Given the description of an element on the screen output the (x, y) to click on. 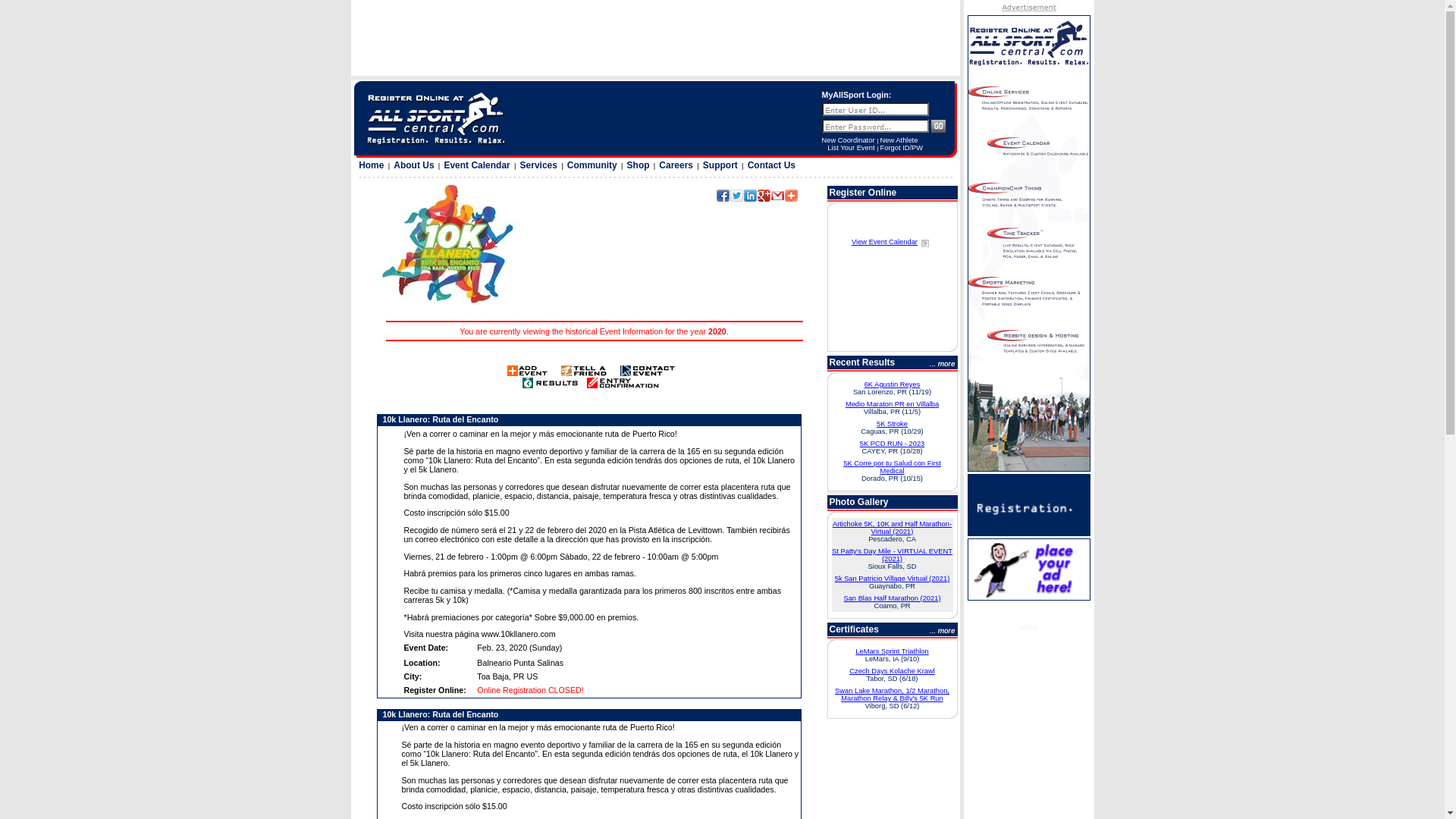
Careers Element type: text (675, 165)
New Athlete Element type: text (899, 140)
Services Element type: text (538, 165)
Support Element type: text (719, 165)
 Services  |  Element type: text (540, 165)
Forgot ID/PW Element type: text (901, 147)
About Us Element type: text (413, 165)
San Blas Half Marathon (2021) Element type: text (891, 598)
5K Corre por tu Salud con First Medical Element type: text (892, 466)
AllSportCentral.com - Registration. Results. Relax. Element type: hover (434, 118)
6K Agustin Reyes Element type: text (892, 384)
Event Calendar Element type: text (476, 165)
New Coordinator Element type: text (848, 140)
5K Stroke Element type: text (891, 423)
5k San Patricio Village Virtual (2021) Element type: text (892, 578)
 Event Calendar  |  Element type: text (479, 165)
Home Element type: text (370, 165)
View Event Calendar Element type: text (891, 250)
Medio Maraton PR en Villalba Element type: text (891, 403)
St Patty's Day Mile - VIRTUAL EVENT (2021) Element type: text (891, 554)
 Shop  |  Element type: text (640, 165)
List Your Event Element type: text (850, 147)
Shop Element type: text (638, 165)
 Careers  |  Element type: text (679, 165)
 Contact Us  Element type: text (771, 165)
Czech Days Kolache Krawl Element type: text (892, 670)
LeMars Sprint Triathlon Element type: text (891, 651)
Artichoke 5K, 10K and Half Marathon- Virtual (2021) Element type: text (891, 527)
Community Element type: text (592, 165)
5K PCD RUN - 2023 Element type: text (892, 443)
 Community  |  Element type: text (594, 165)
 Home  |  Element type: text (374, 165)
 Support  |  Element type: text (722, 165)
Contact Us Element type: text (771, 165)
 About Us  |  Element type: text (417, 165)
